Given the description of an element on the screen output the (x, y) to click on. 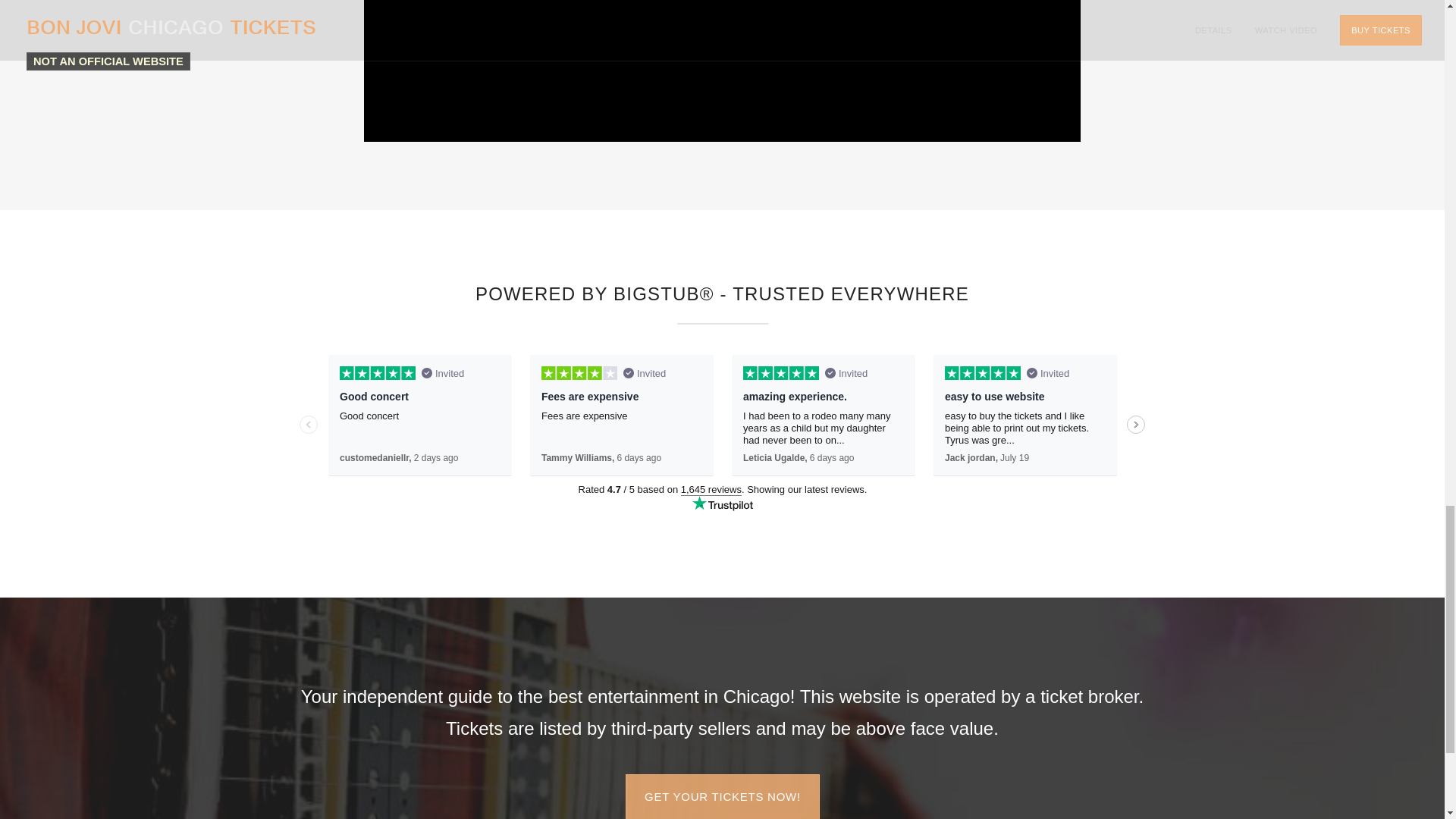
GET YOUR TICKETS NOW! (722, 796)
